Given the description of an element on the screen output the (x, y) to click on. 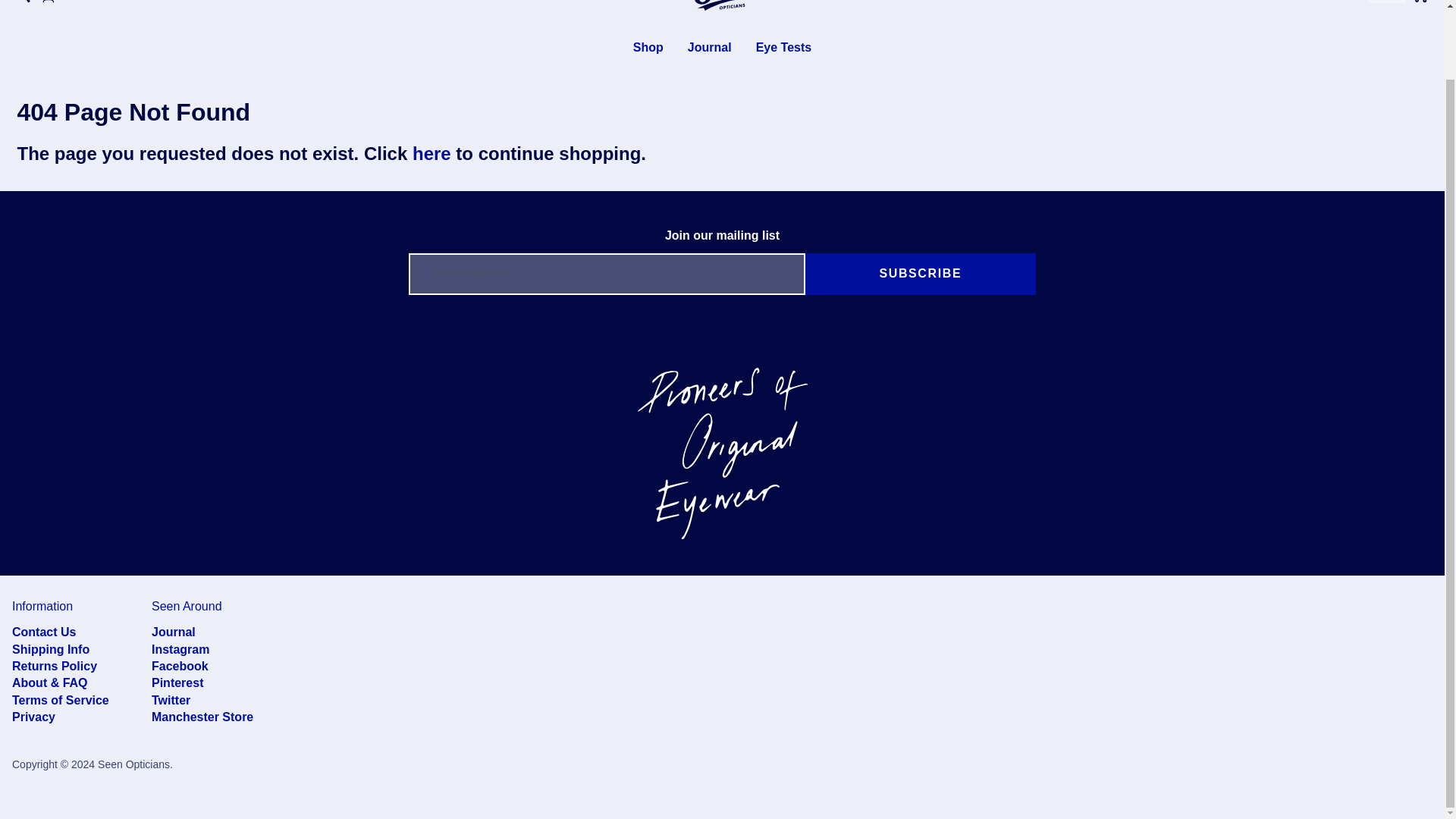
SUBSCRIBE (920, 273)
Cart (1419, 3)
Journal (709, 47)
Seen Opticians (722, 7)
here (431, 153)
Information (41, 605)
Eye Tests (783, 47)
Shop (648, 47)
